Given the description of an element on the screen output the (x, y) to click on. 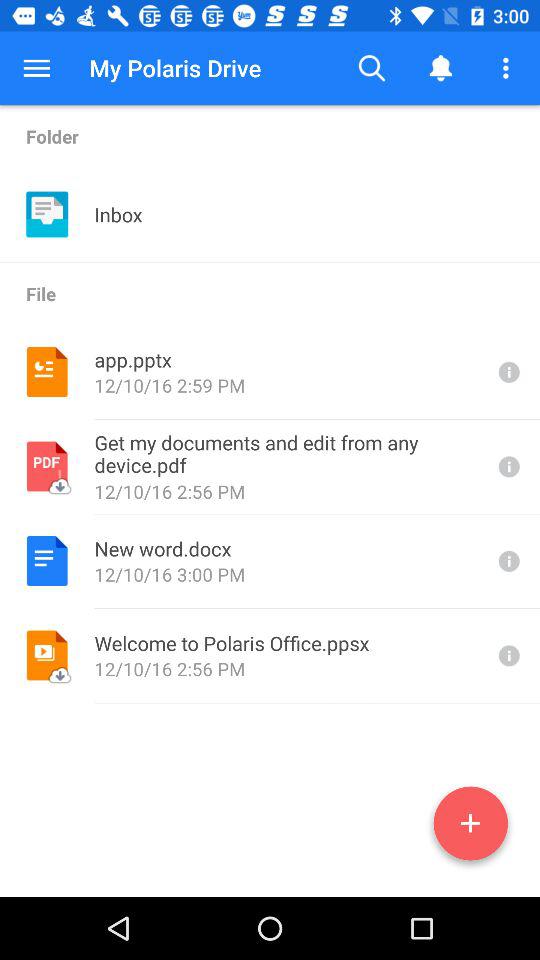
click the button to the right of the my polaris drive item (371, 67)
